Given the description of an element on the screen output the (x, y) to click on. 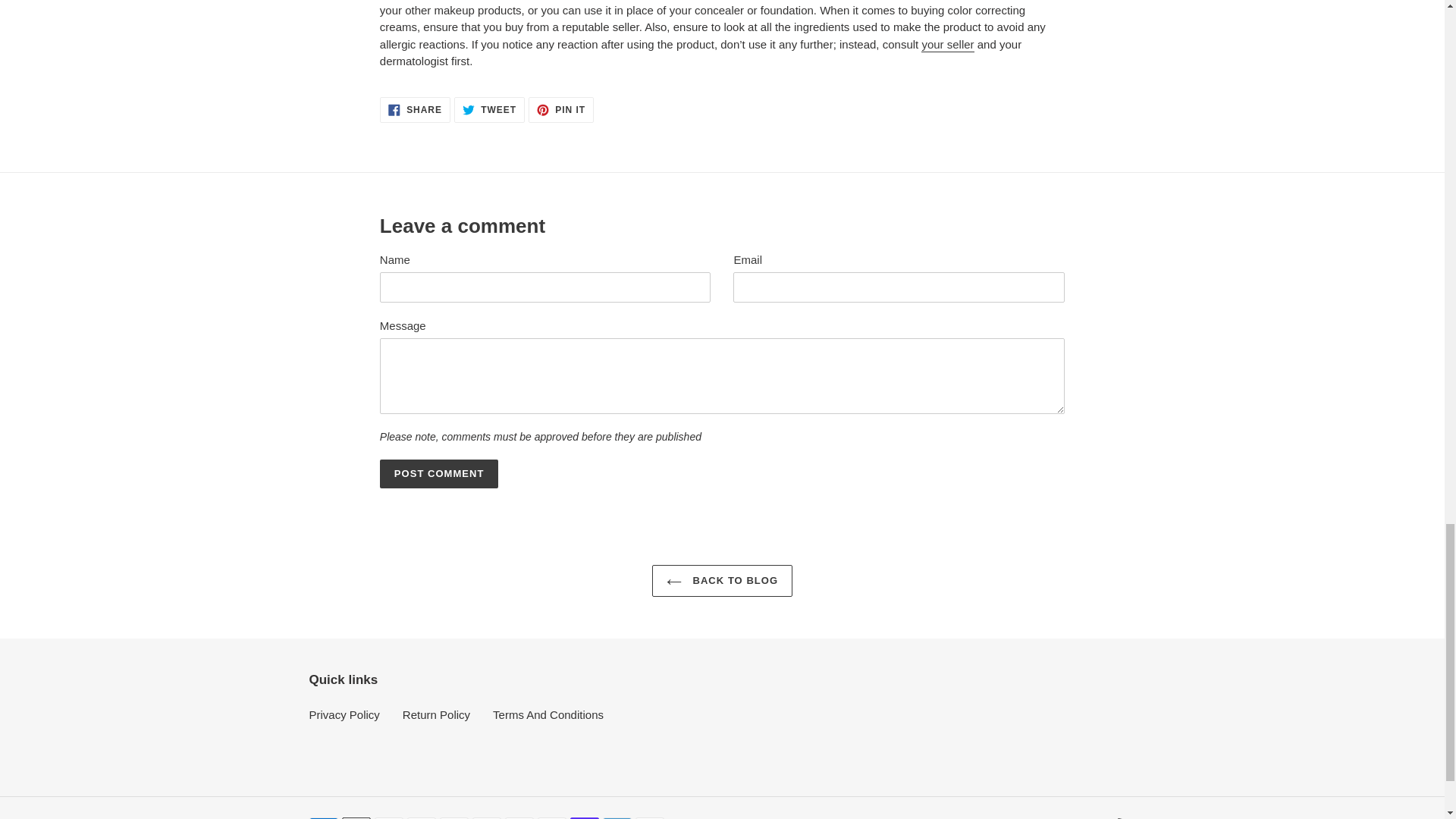
Terms And Conditions (548, 714)
Post comment (439, 473)
BACK TO BLOG (722, 581)
your seller (947, 44)
Post comment (414, 109)
Return Policy (489, 109)
RSS (439, 473)
